Given the description of an element on the screen output the (x, y) to click on. 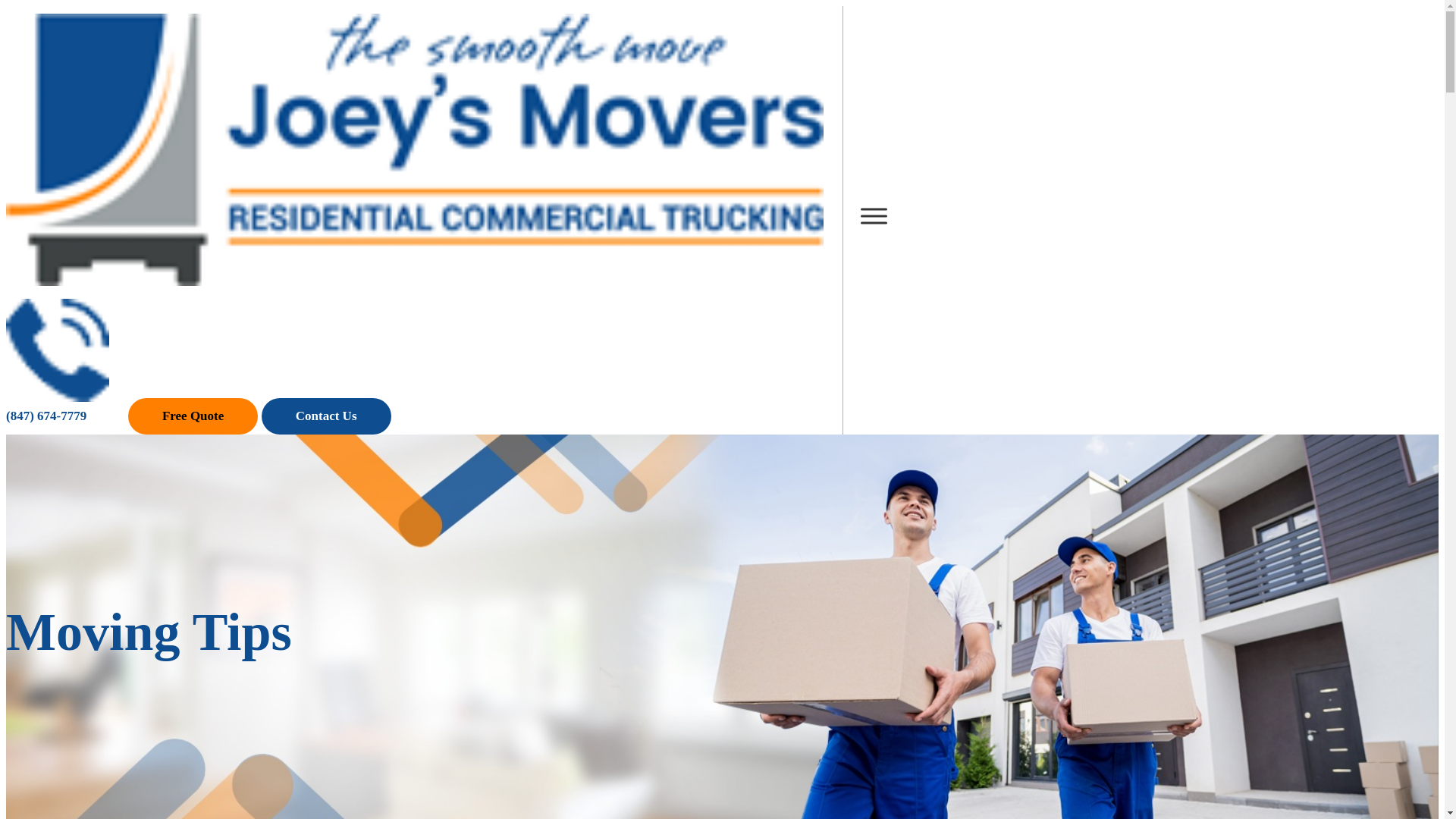
Free Quote (192, 416)
Contact Us (326, 416)
